Given the description of an element on the screen output the (x, y) to click on. 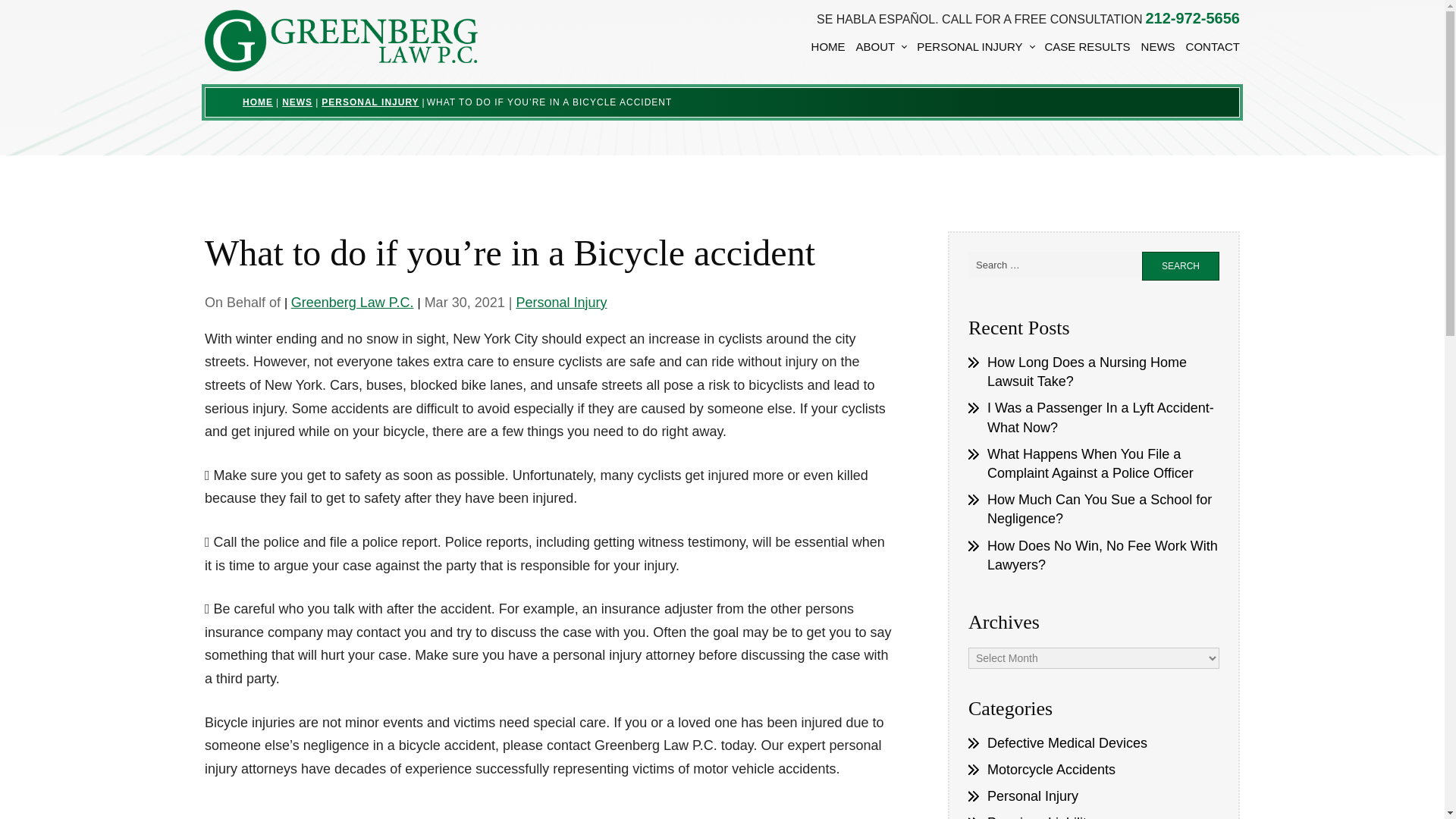
NEWS (1157, 48)
212-972-5656 (1192, 18)
CONTACT (1213, 48)
Go to Greenberg Law. (258, 102)
Go to News. (297, 102)
PERSONAL INJURY (975, 48)
ABOUT (881, 48)
HOME (827, 48)
Search (1180, 265)
Search (1180, 265)
